Given the description of an element on the screen output the (x, y) to click on. 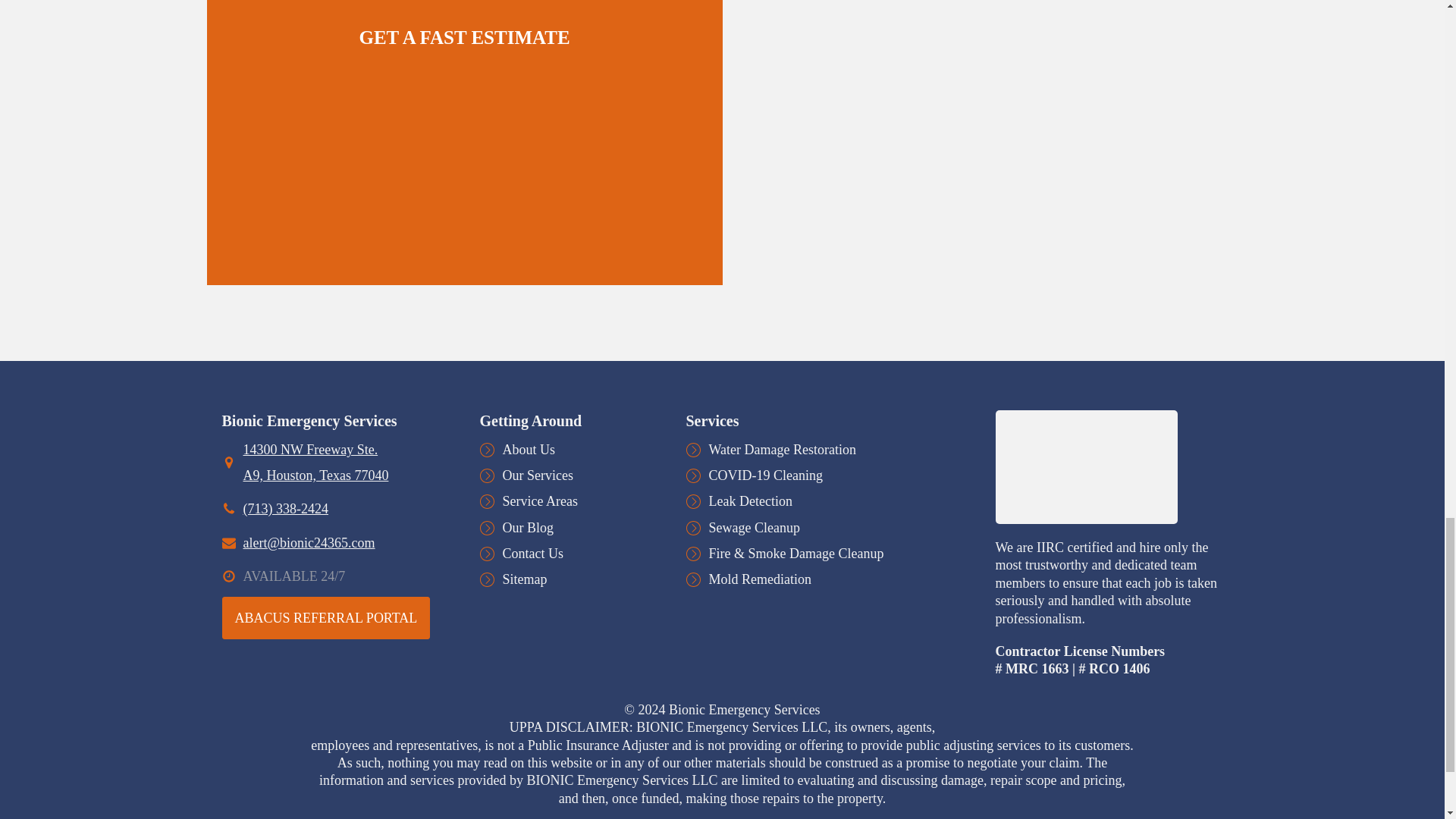
COVID-19 Cleaning (764, 475)
Current Lead Gen Form (463, 107)
Sitemap (524, 579)
ABACUS REFERRAL PORTAL (325, 618)
Contact Us (532, 553)
Sewage Cleanup (753, 527)
Service Areas (539, 501)
About Us (528, 449)
Our Blog (527, 527)
Water Damage Restoration (781, 449)
Mold Remediation (758, 579)
Leak Detection (749, 501)
Our Services (537, 475)
14300 NW Freeway Ste. A9, Houston, Texas 77040 (345, 462)
